Given the description of an element on the screen output the (x, y) to click on. 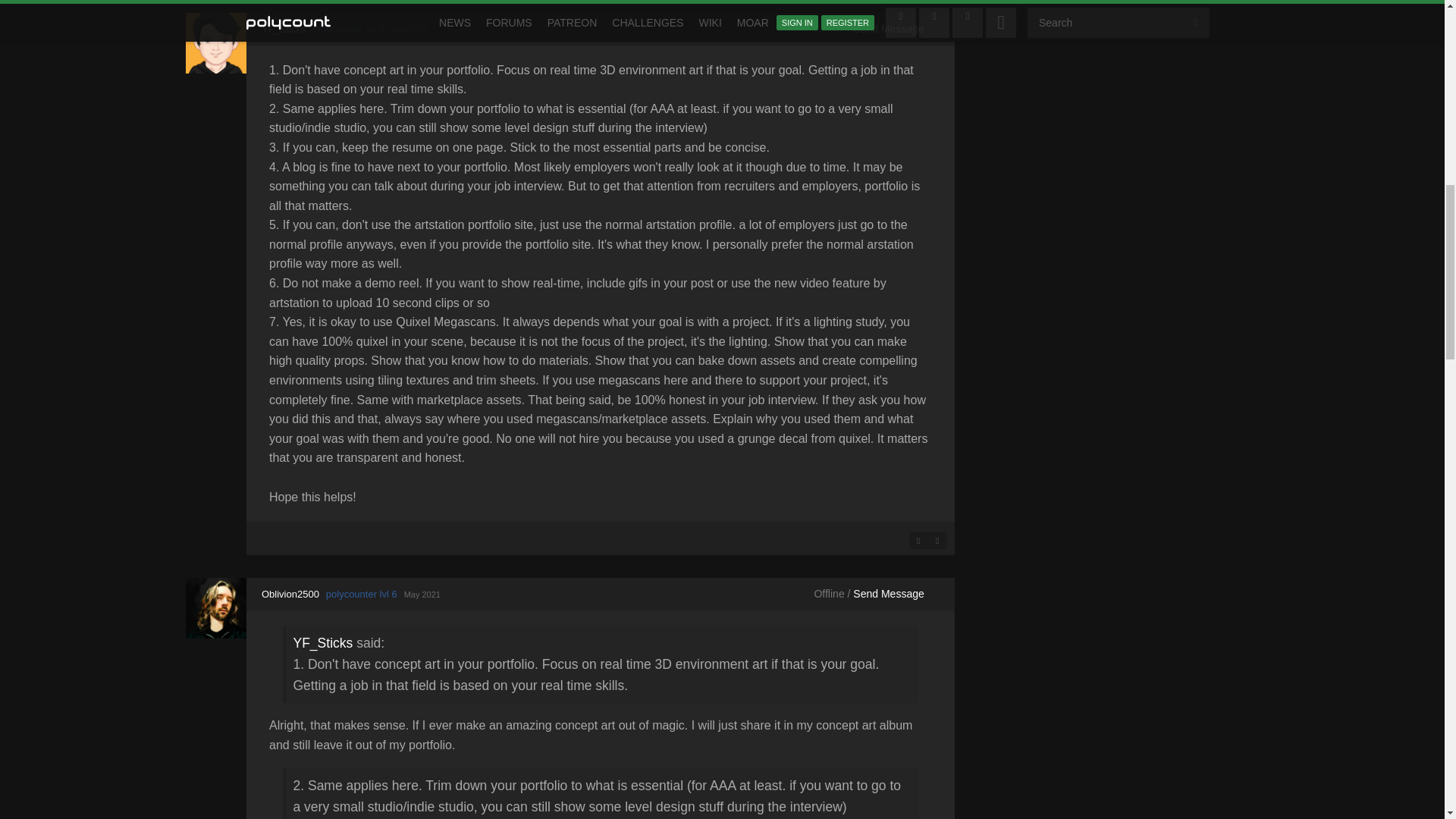
May 4, 2021 1:43PM (422, 593)
polycounter lvl 6 (361, 593)
Oblivion2500 (216, 608)
May 4, 2021 6:46AM (408, 29)
polycounter lvl 5 (348, 29)
